Given the description of an element on the screen output the (x, y) to click on. 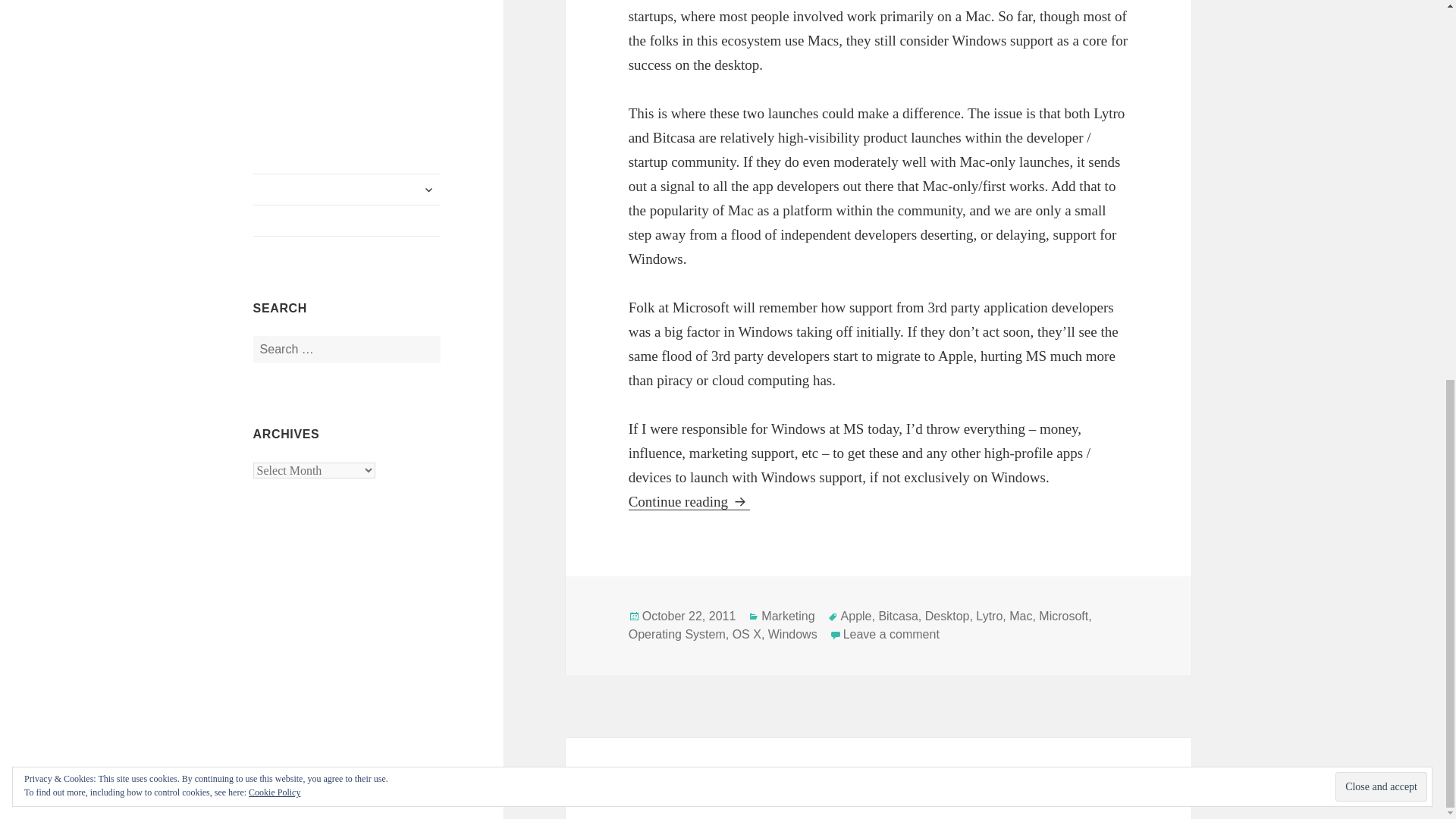
Marketing (891, 634)
Bitcasa (787, 616)
Close and accept (688, 501)
October 22, 2011 (897, 616)
OS X (1380, 80)
Desktop (689, 616)
Close and accept (746, 634)
Proudly powered by WordPress (946, 616)
